Given the description of an element on the screen output the (x, y) to click on. 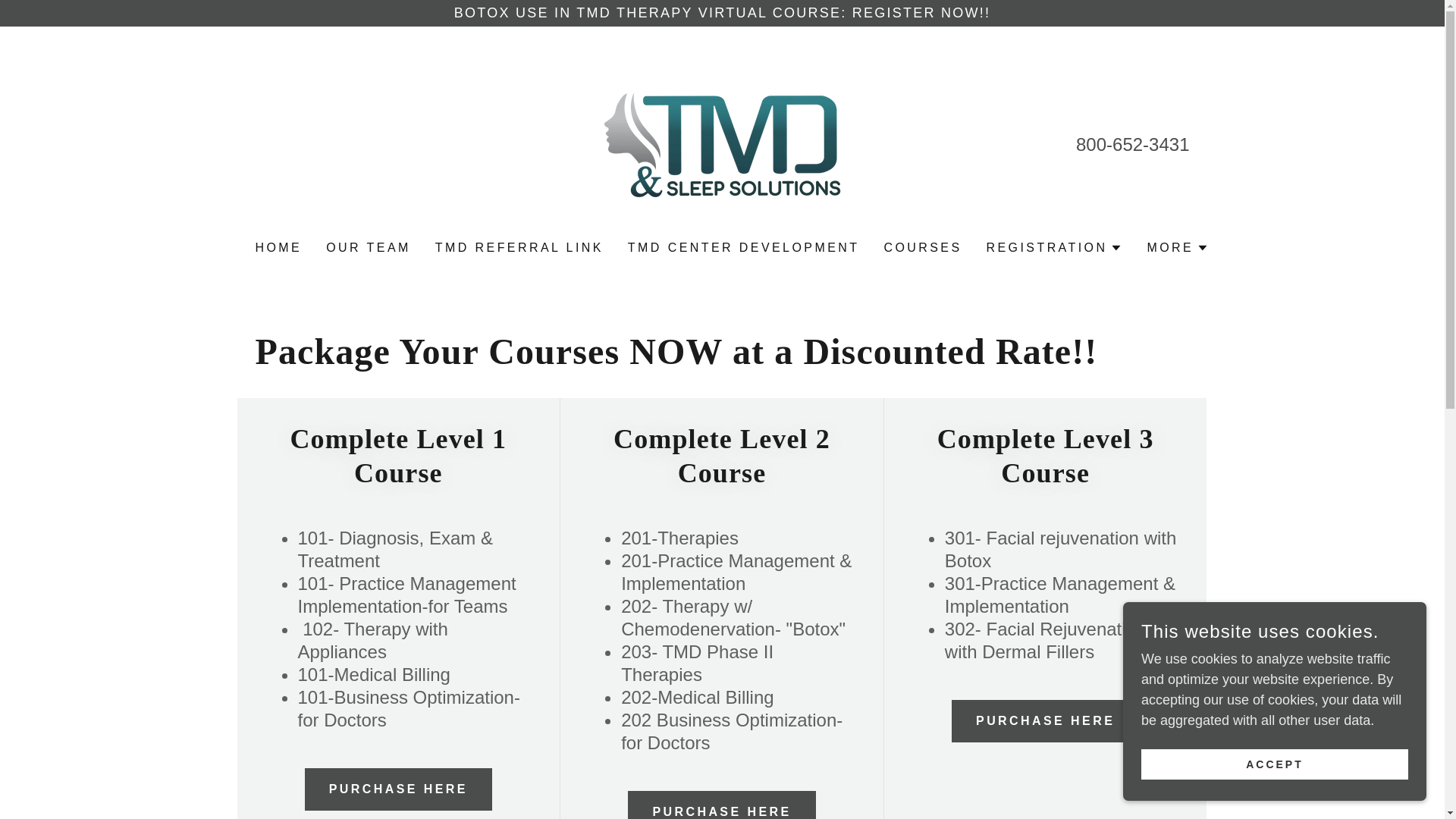
REGISTRATION (1054, 248)
TMD REFERRAL LINK (519, 247)
800-652-3431 (1132, 144)
COURSES (922, 247)
OUR TEAM (367, 247)
MORE (1177, 248)
HOME (277, 247)
TMD CENTER DEVELOPMENT (743, 247)
